Given the description of an element on the screen output the (x, y) to click on. 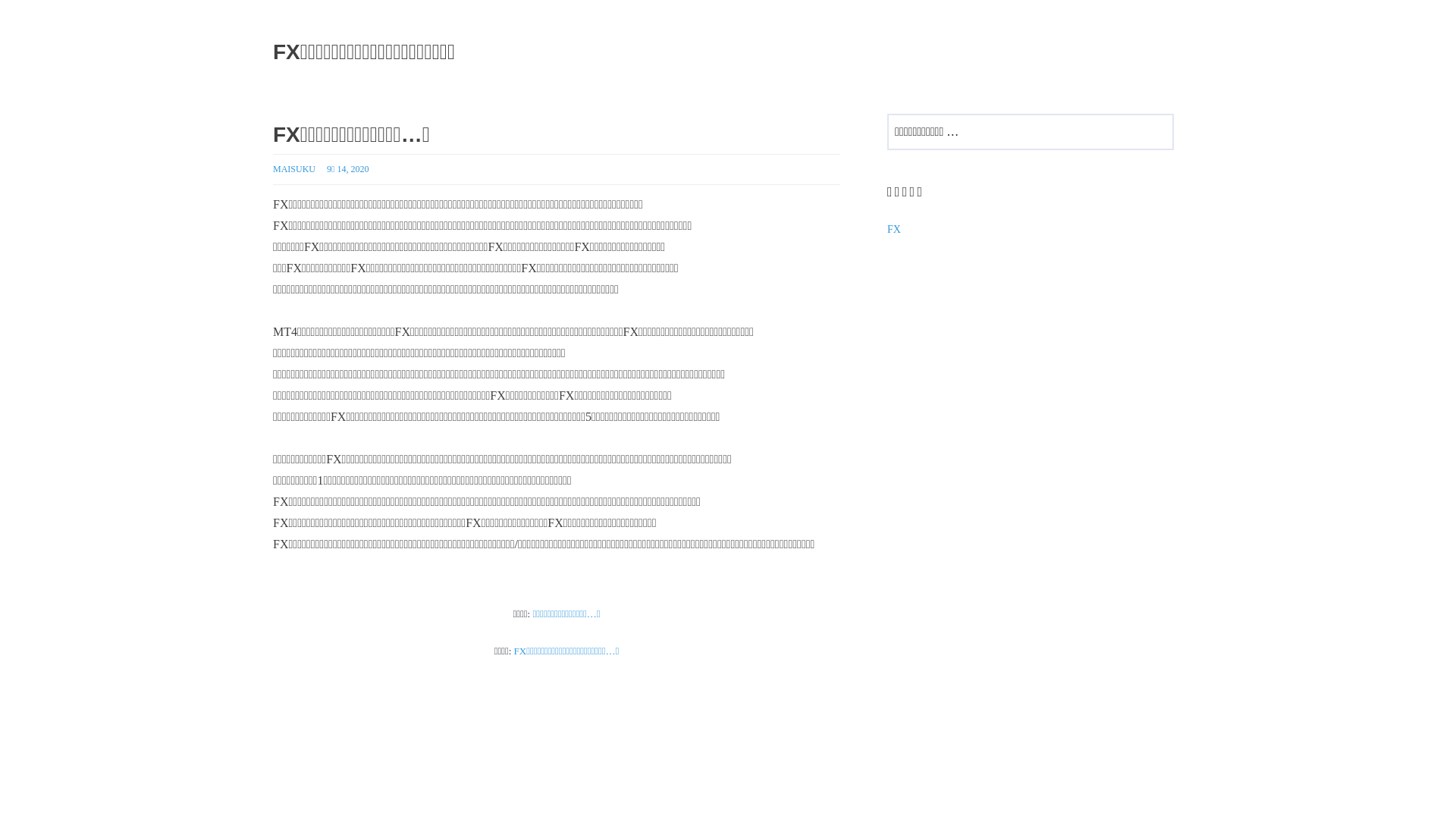
MAISUKU Element type: text (294, 168)
FX Element type: text (893, 228)
